Given the description of an element on the screen output the (x, y) to click on. 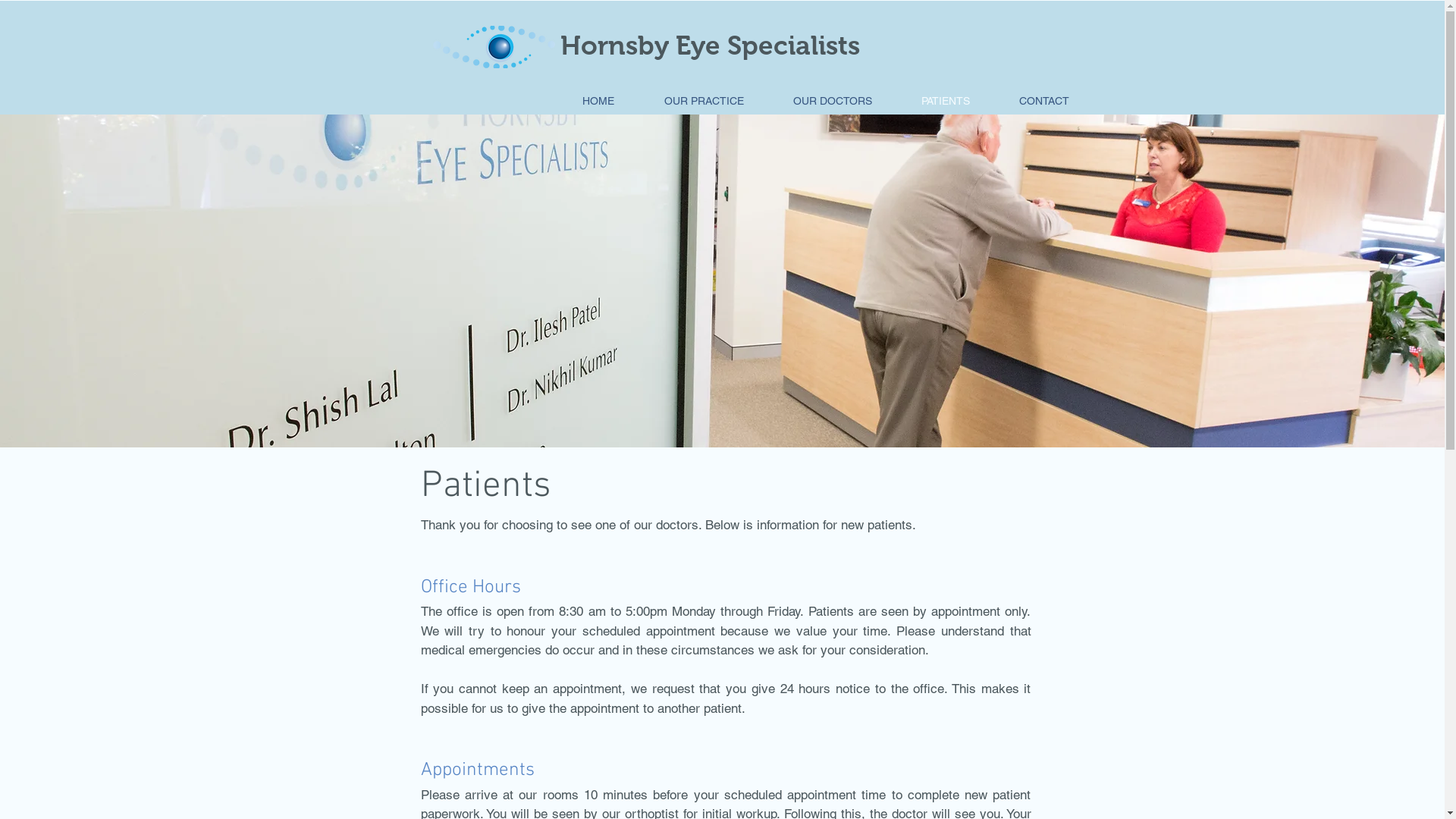
Hornsby Eye Specialists Element type: text (709, 44)
OUR DOCTORS Element type: text (832, 100)
CONTACT Element type: text (1044, 100)
PATIENTS Element type: text (945, 100)
HOME Element type: text (597, 100)
OUR PRACTICE Element type: text (703, 100)
